Given the description of an element on the screen output the (x, y) to click on. 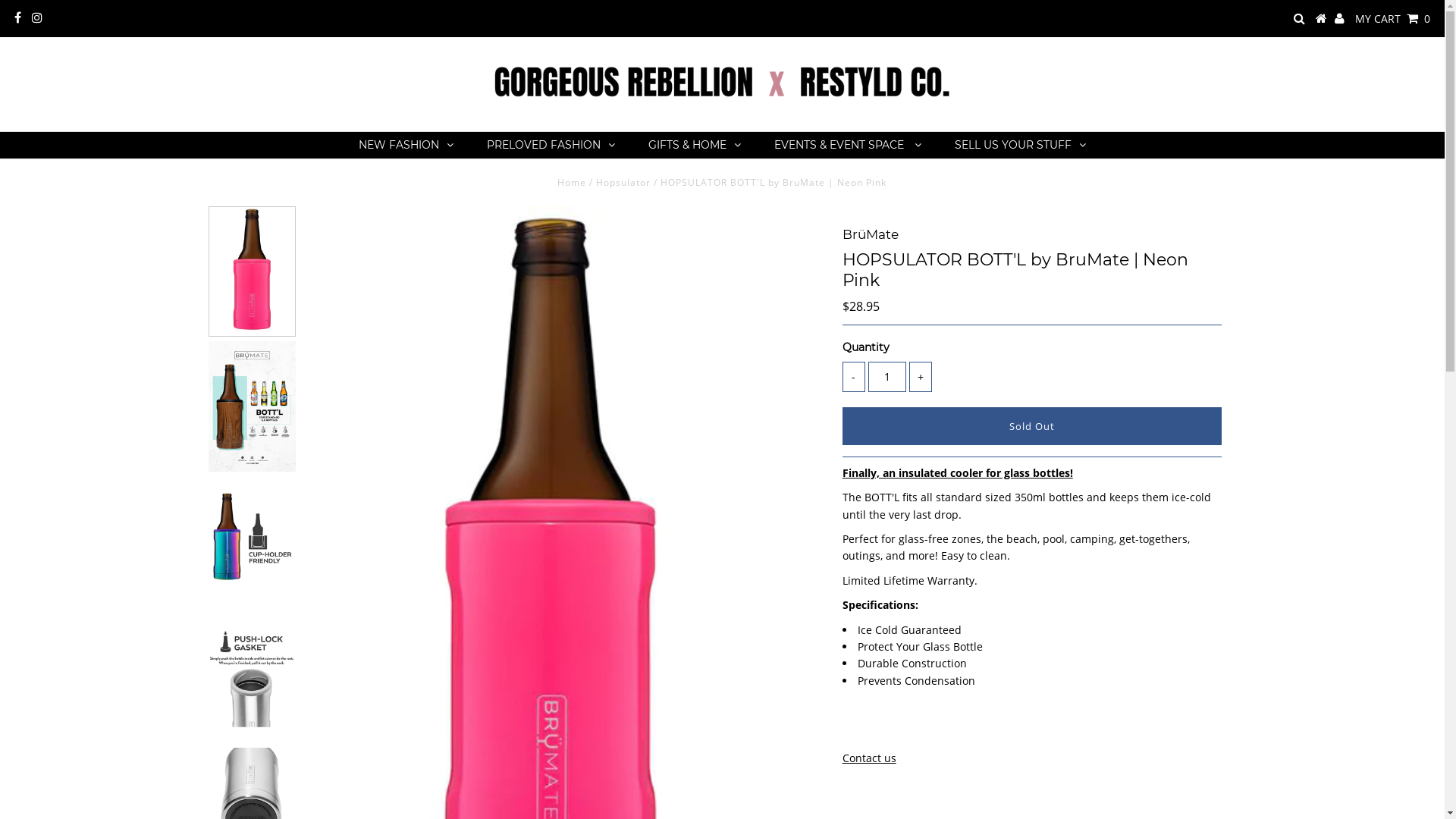
Hopsulator Element type: text (623, 181)
SELL US YOUR STUFF Element type: text (1020, 144)
Share on Pinterest Element type: hover (908, 725)
+ Element type: text (920, 376)
- Element type: text (853, 376)
NEW FASHION Element type: text (405, 144)
MY CART    0 Element type: text (1392, 18)
Sold Out Element type: text (1031, 426)
Home Element type: text (571, 181)
EVENTS & EVENT SPACE Element type: text (847, 144)
Share on Facebook Element type: hover (852, 725)
Share on Twitter Element type: hover (878, 725)
PRELOVED FASHION Element type: text (550, 144)
GIFTS & HOME Element type: text (694, 144)
Contact us Element type: text (869, 757)
